Given the description of an element on the screen output the (x, y) to click on. 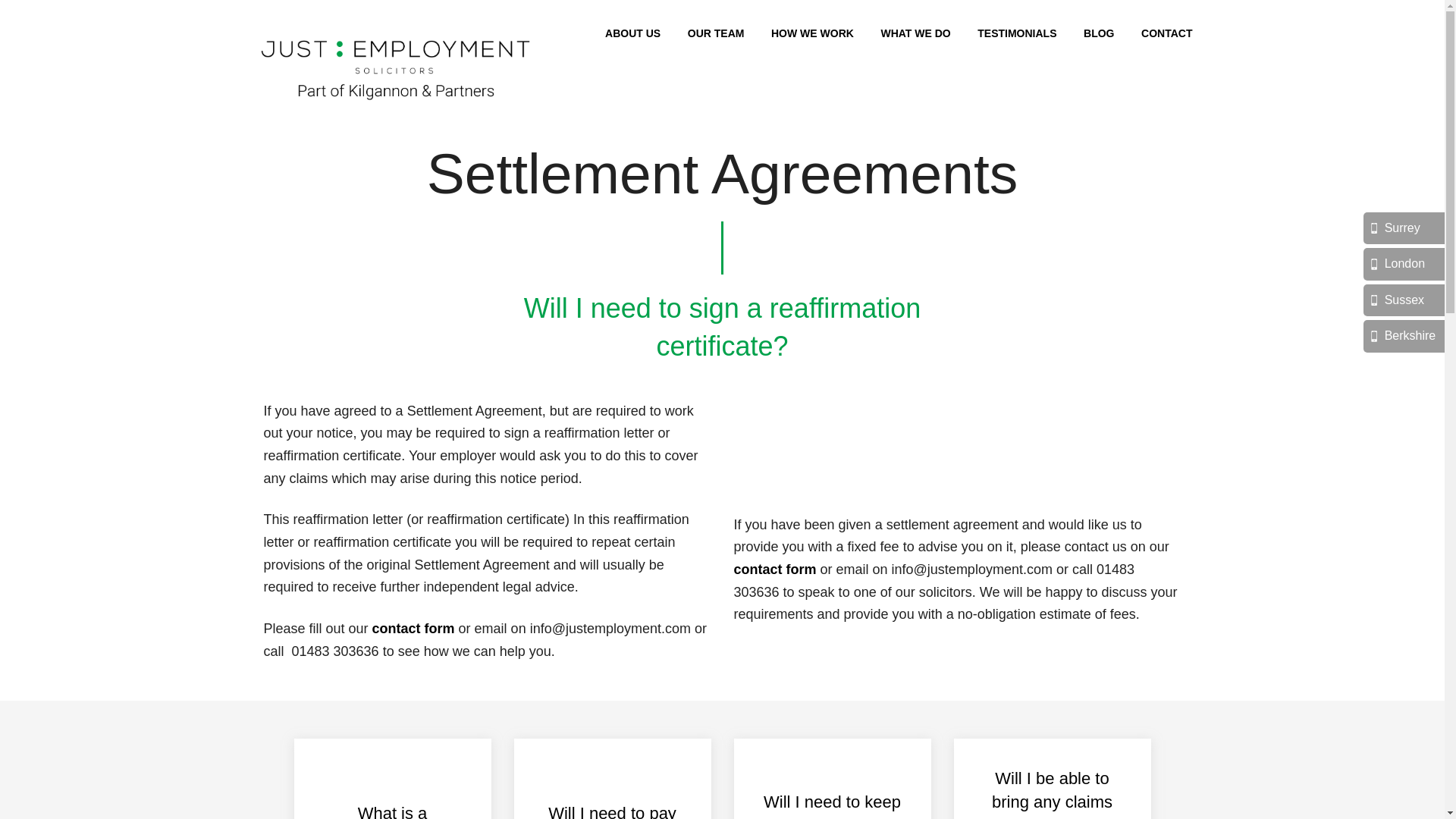
BLOG (1098, 33)
Will I need to keep the Settlement Agreement confidential? (832, 778)
HOW WE WORK (812, 33)
OUR TEAM (715, 33)
ReviewSolicitors (884, 457)
WHAT WE DO (915, 33)
ABOUT US (633, 33)
What is a Settlement Agreement? (392, 778)
CONTACT (1166, 33)
Will I need to pay tax on the settlement sum? (612, 778)
TESTIMONIALS (1016, 33)
